Given the description of an element on the screen output the (x, y) to click on. 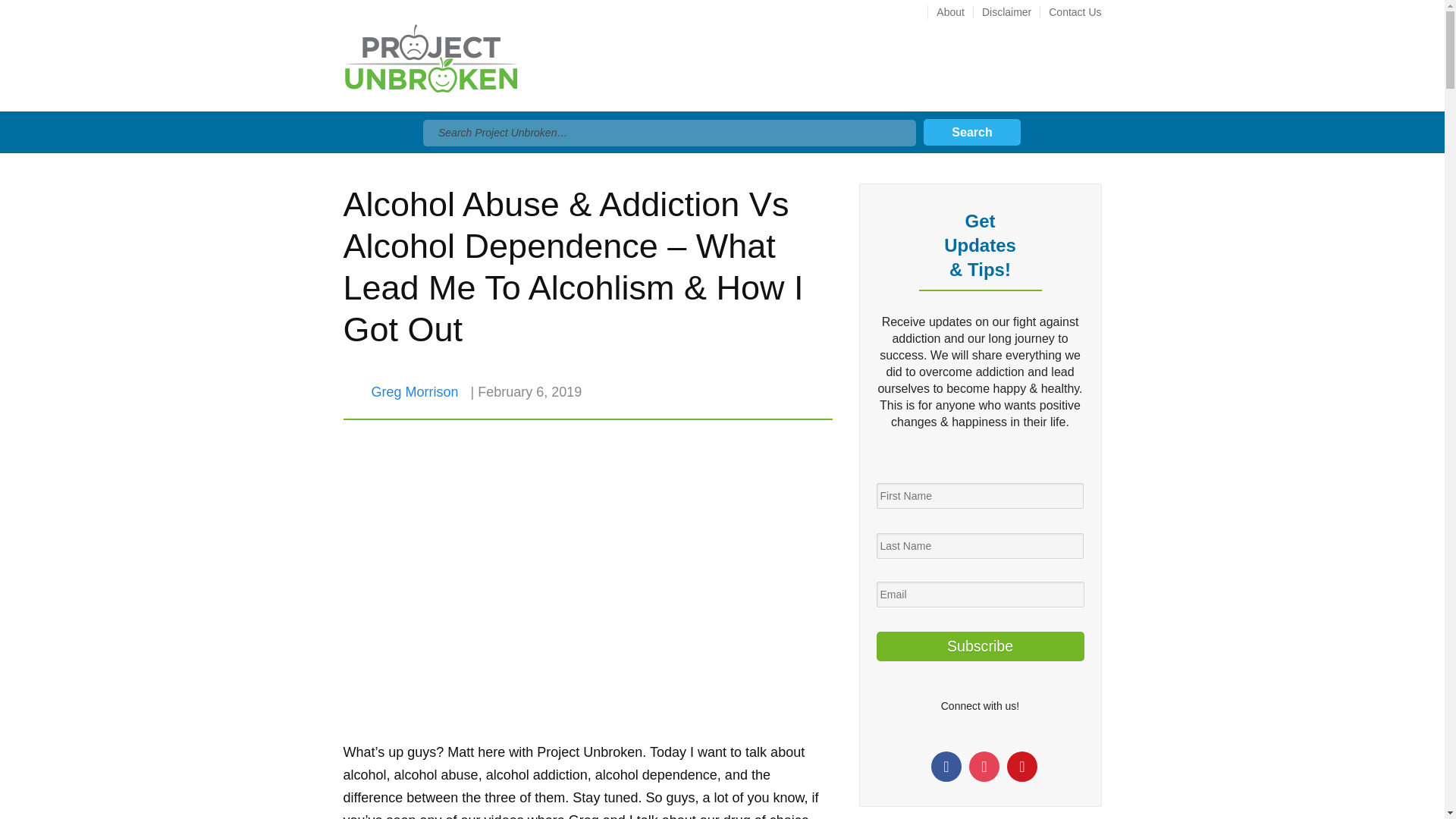
Search (971, 130)
About (949, 11)
click to go home (429, 67)
2019-02-06 (528, 391)
Search (971, 130)
Subscribe (980, 645)
Disclaimer (1005, 11)
Contact Us (1069, 11)
Subscribe (980, 645)
Greg Morrison (414, 391)
